Given the description of an element on the screen output the (x, y) to click on. 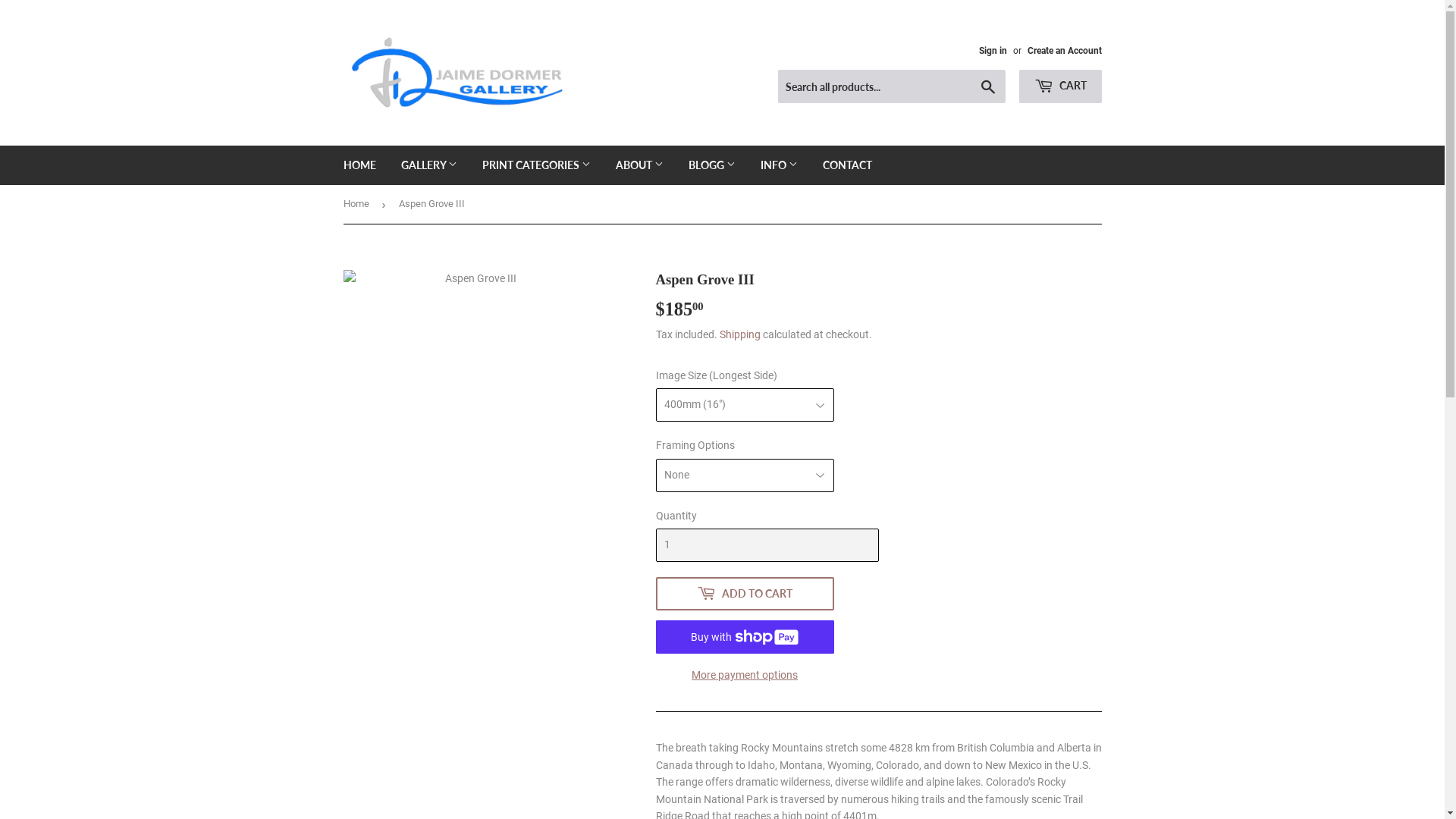
More payment options Element type: text (744, 674)
CONTACT Element type: text (847, 165)
PRINT CATEGORIES Element type: text (535, 165)
Home Element type: text (357, 204)
Shipping Element type: text (738, 334)
GALLERY Element type: text (428, 165)
ABOUT Element type: text (638, 165)
HOME Element type: text (359, 165)
BLOGG Element type: text (711, 165)
Sign in Element type: text (992, 50)
ADD TO CART Element type: text (744, 593)
INFO Element type: text (779, 165)
Create an Account Element type: text (1063, 50)
CART Element type: text (1060, 86)
Search Element type: text (987, 87)
